Given the description of an element on the screen output the (x, y) to click on. 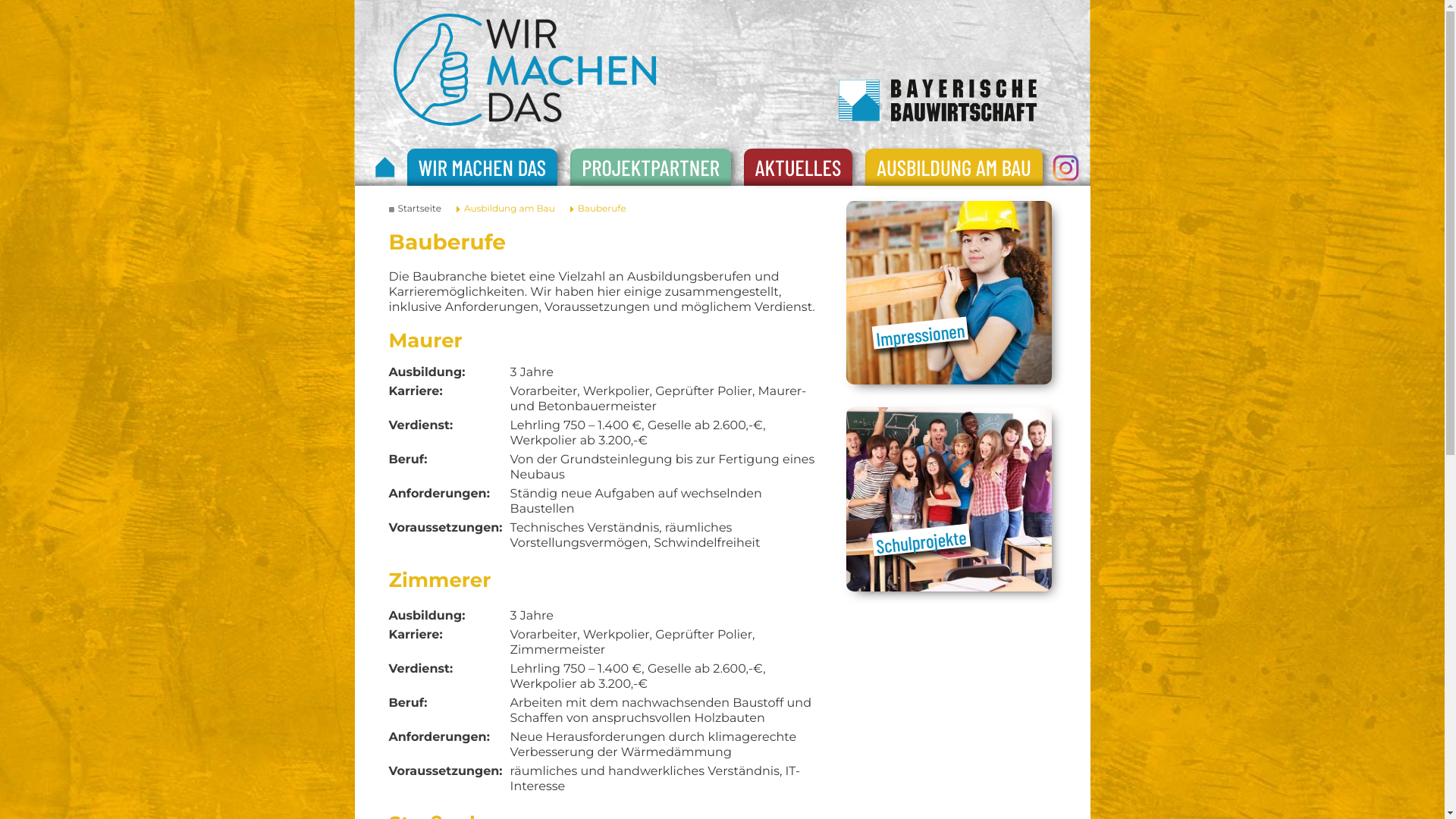
Startseite Element type: text (418, 208)
AKTUELLES Element type: text (797, 166)
WIR MACHEN DAS Element type: text (482, 166)
PROJEKTPARTNER Element type: text (650, 166)
Instagram Element type: hover (1065, 167)
Schulprojekte Element type: text (920, 535)
Impressionen Element type: text (919, 329)
AUSBILDUNG AM BAU Element type: text (953, 166)
